Given the description of an element on the screen output the (x, y) to click on. 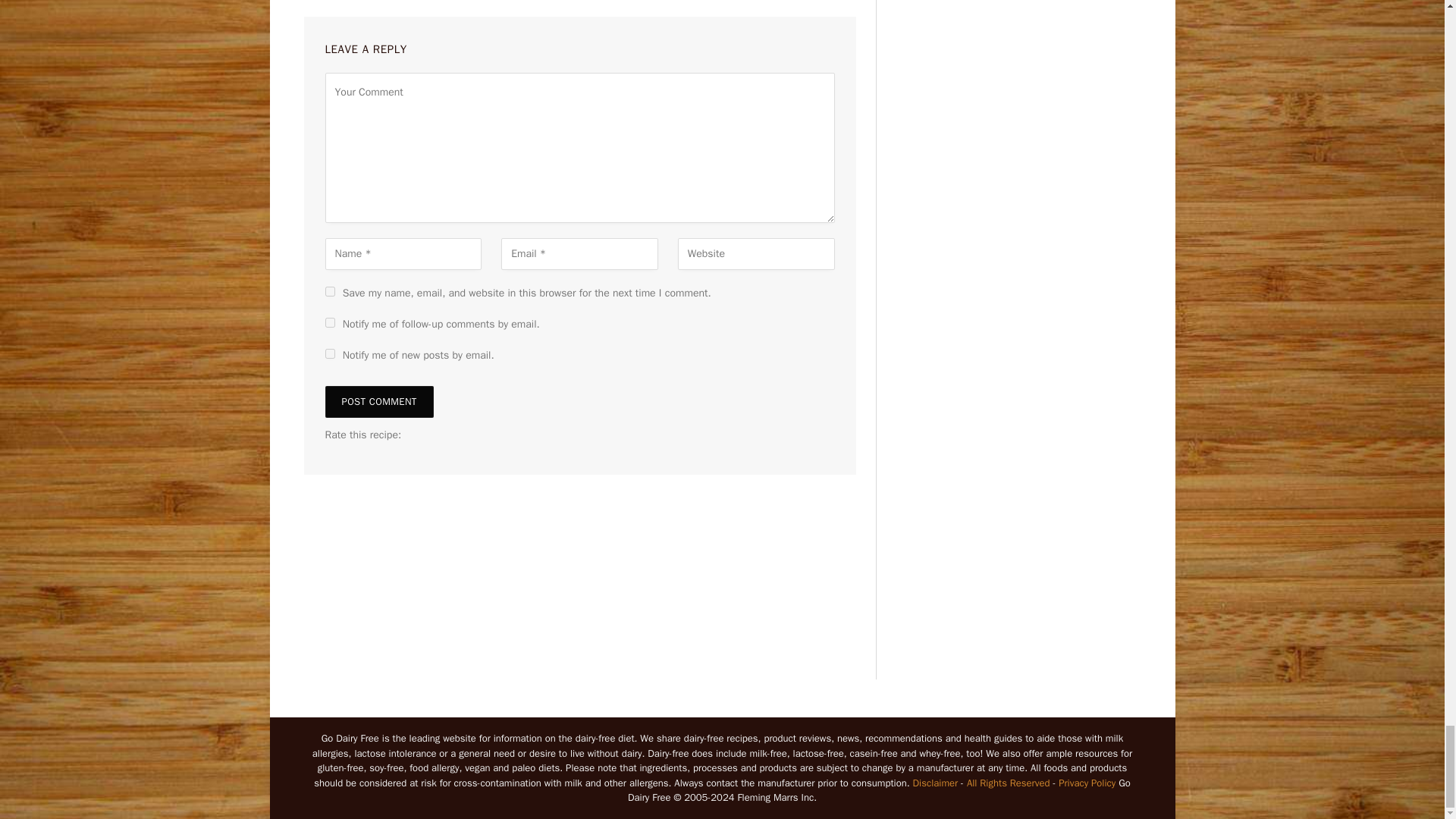
subscribe (329, 353)
subscribe (329, 322)
Post Comment (378, 401)
yes (329, 291)
